Given the description of an element on the screen output the (x, y) to click on. 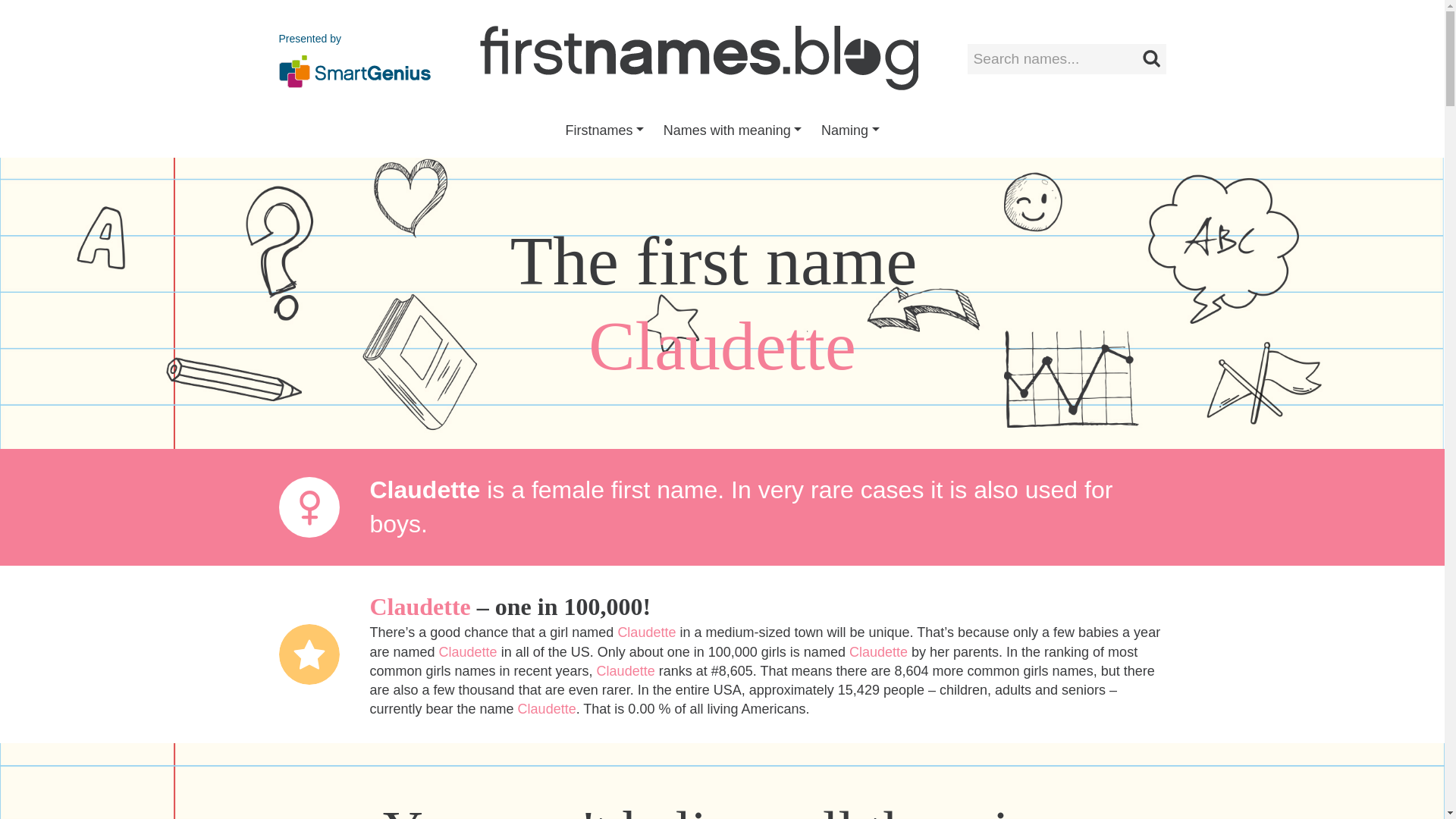
Firstnames (604, 129)
Names with meaning (731, 129)
Naming (849, 129)
Presented by (354, 58)
Search names... (1067, 59)
